Given the description of an element on the screen output the (x, y) to click on. 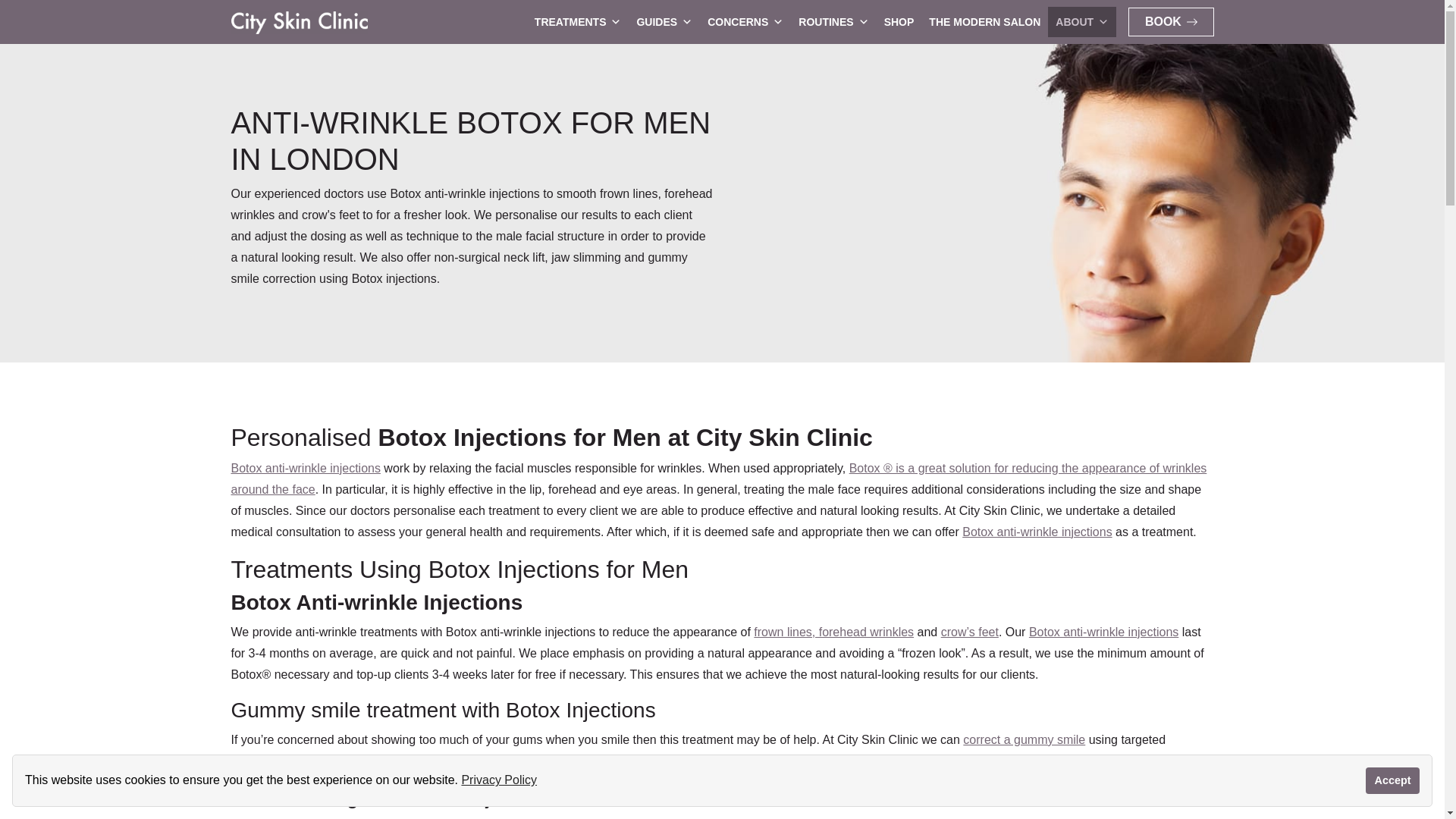
Privacy Policy (499, 780)
Accept (1392, 780)
